Given the description of an element on the screen output the (x, y) to click on. 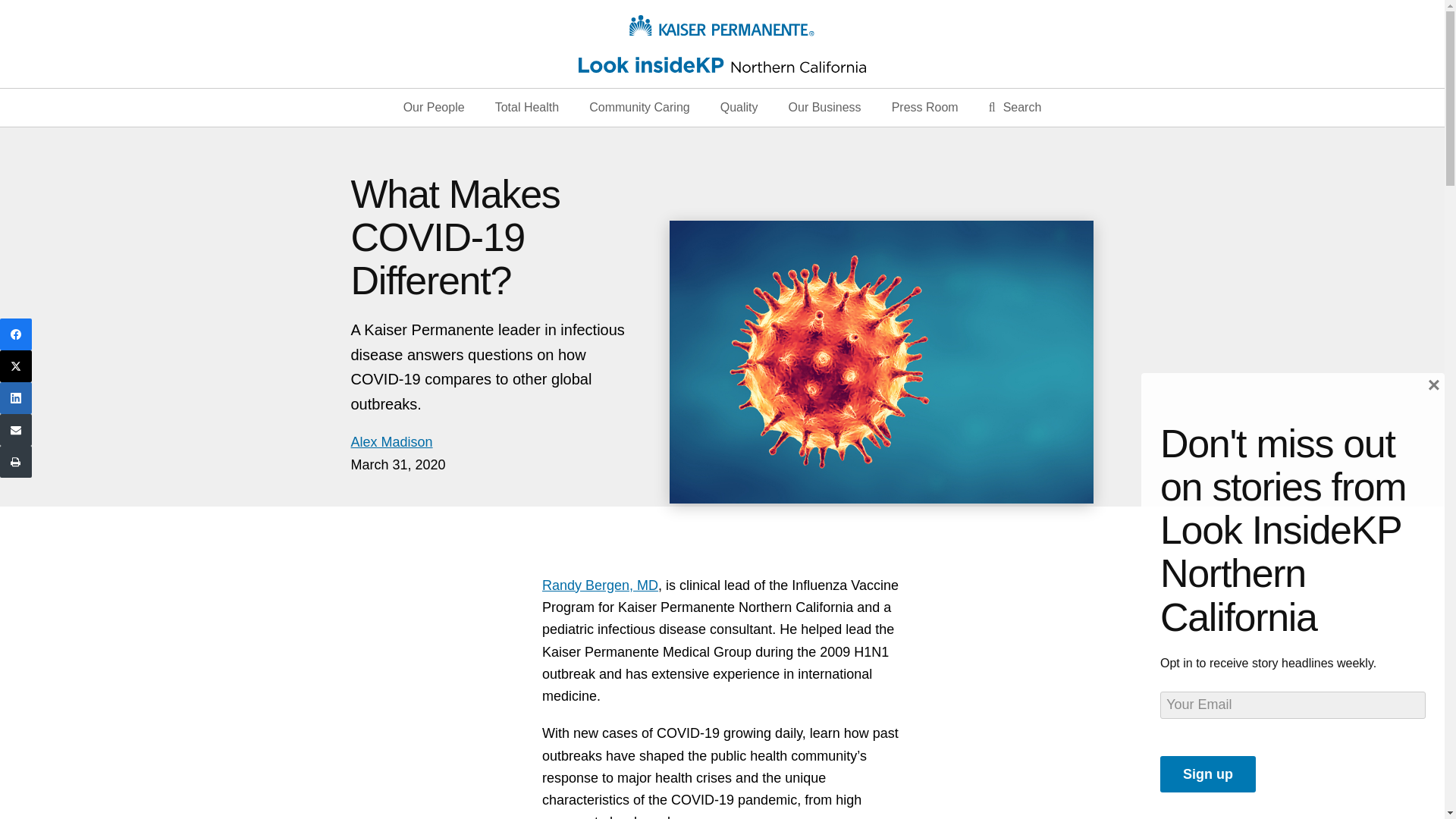
Quality (738, 107)
Randy Bergen, MD (599, 585)
Our People (434, 107)
Our Business (824, 107)
Sign up (1207, 773)
Search (1014, 107)
Alex Madison (391, 441)
Total Health (526, 107)
Press Room (924, 107)
Community Caring (639, 107)
Posts by Alex Madison (391, 441)
